Given the description of an element on the screen output the (x, y) to click on. 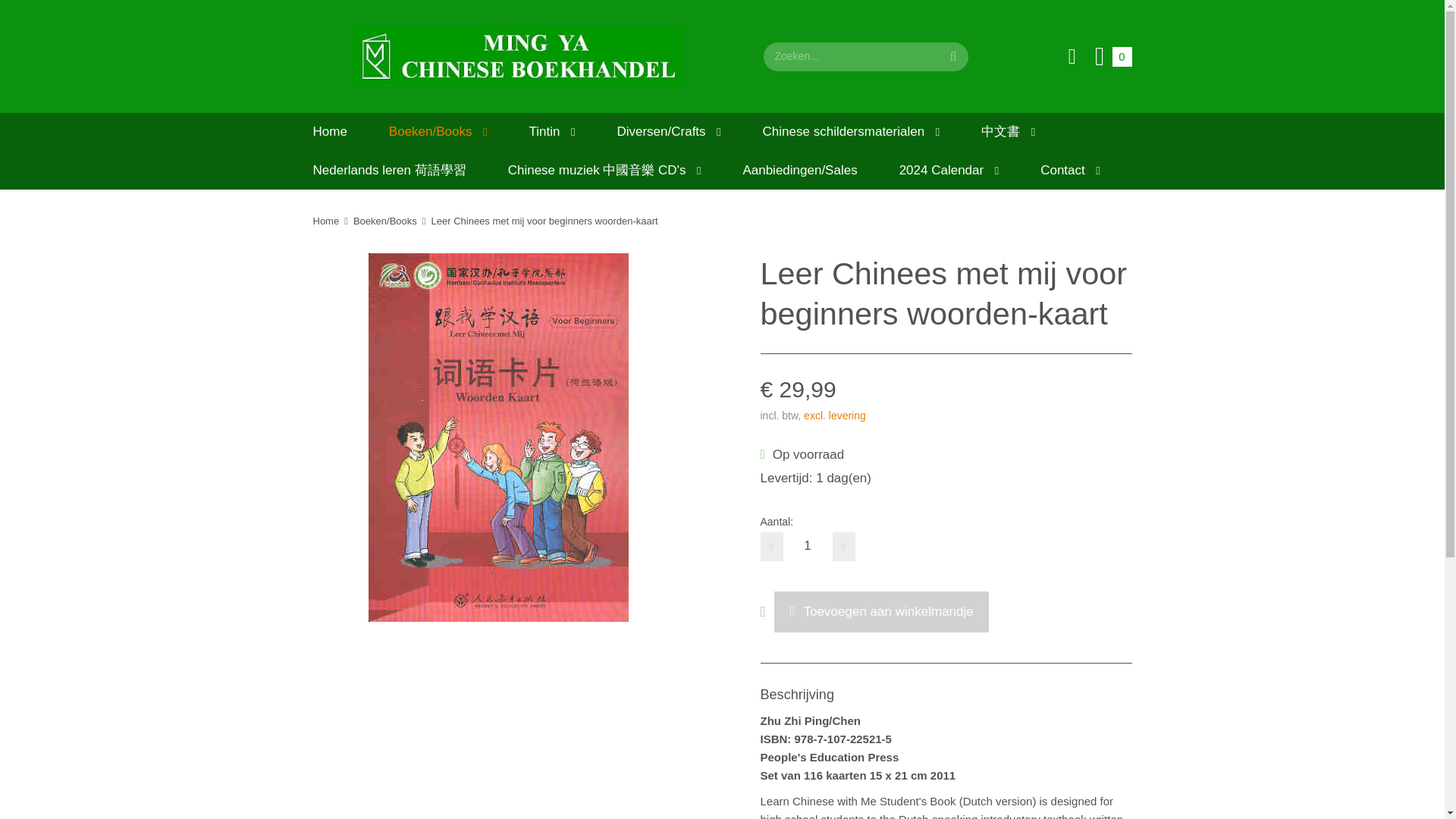
Toevoegen aan verlanglijstje (767, 611)
Home (329, 131)
Ming Ya Chinese Boekhandel (517, 56)
1 (807, 546)
